Given the description of an element on the screen output the (x, y) to click on. 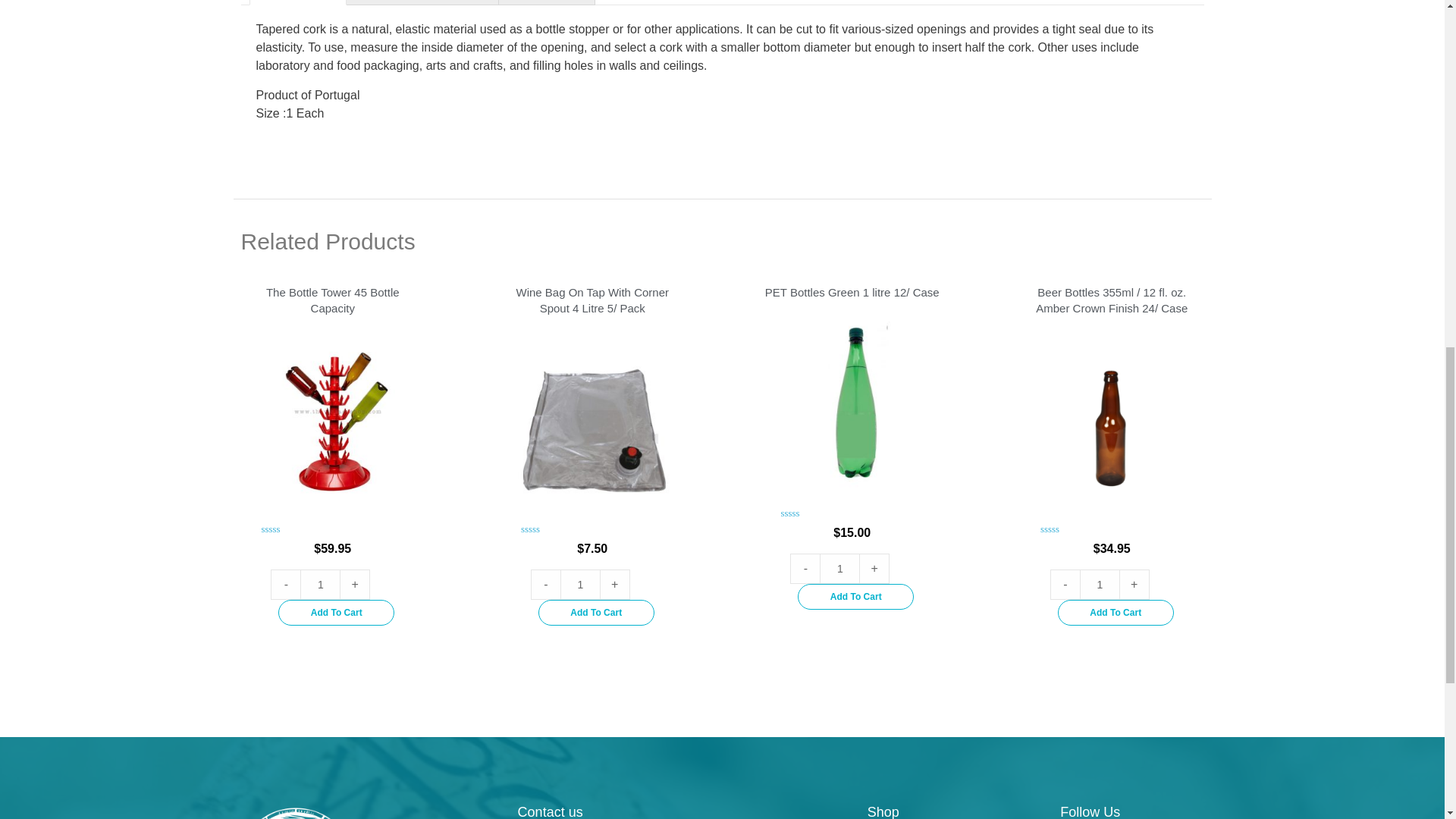
1 (320, 584)
1 (1099, 584)
Qty (579, 584)
Qty (320, 584)
Qty (1099, 584)
1 (579, 584)
Qty (840, 568)
1 (840, 568)
